Given the description of an element on the screen output the (x, y) to click on. 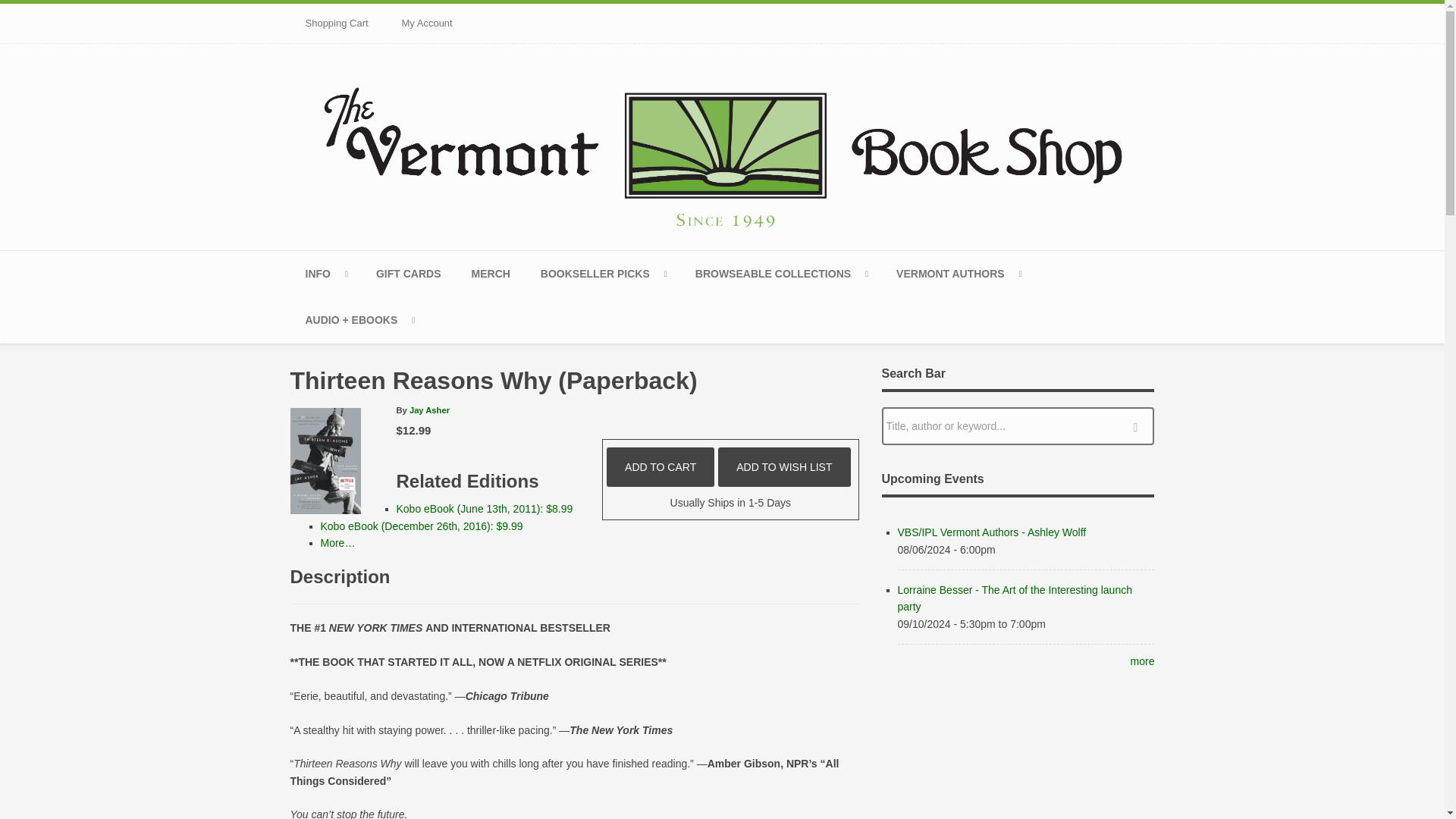
BROWSEABLE COLLECTIONS (779, 273)
INFO (324, 273)
My Account (427, 23)
BOOKSELLER PICKS (602, 273)
GIFT CARDS (409, 273)
Title, author or keyword... (1017, 426)
Add to Cart (660, 466)
MERCH (491, 273)
Home (721, 143)
VERMONT AUTHORS (957, 273)
Purchase Gift Cards (409, 273)
Add to Wish List (783, 466)
Tees, Mugs, Totes, etc (491, 273)
Shopping Cart (335, 23)
